Given the description of an element on the screen output the (x, y) to click on. 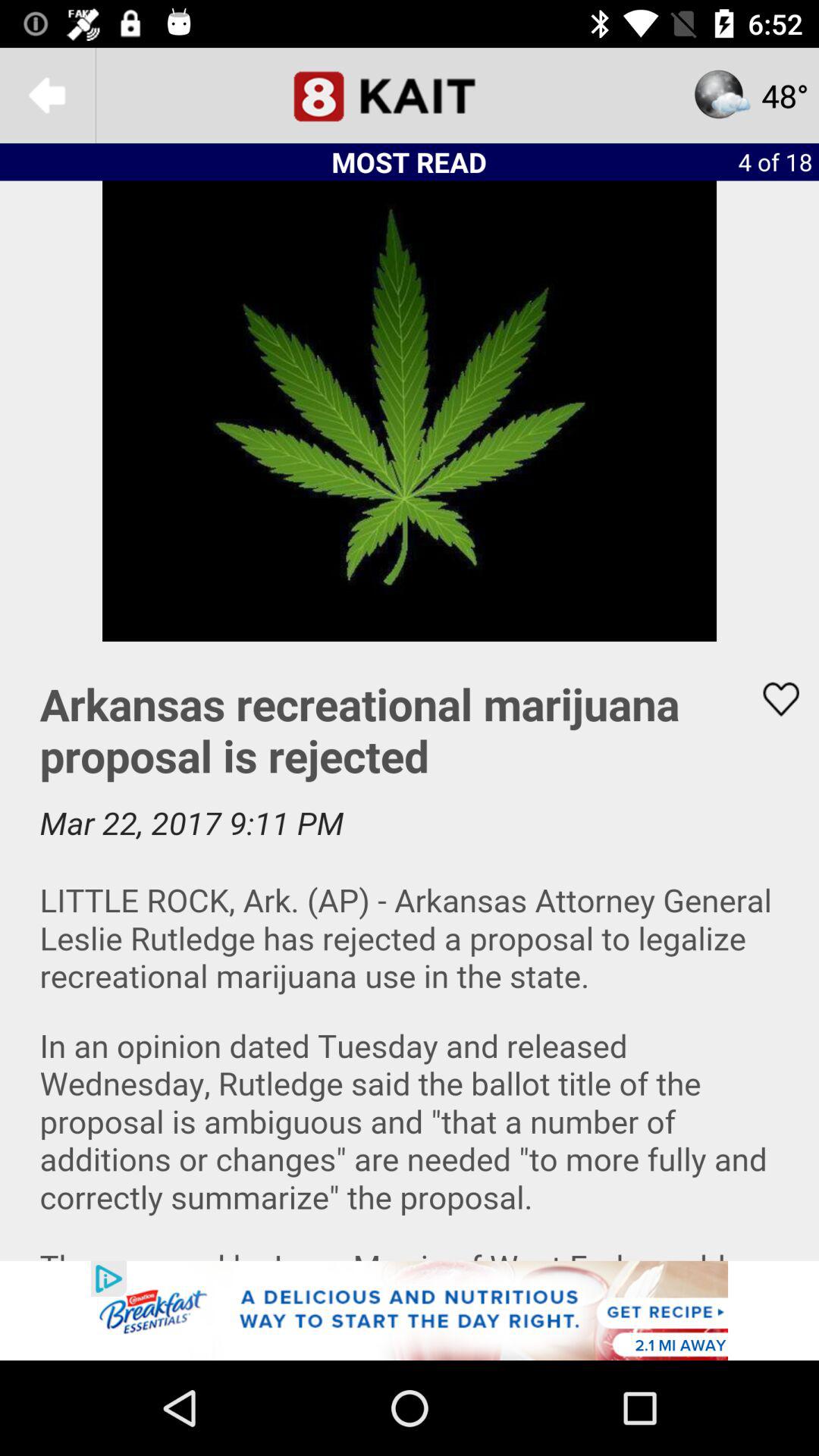
favorite (771, 699)
